Given the description of an element on the screen output the (x, y) to click on. 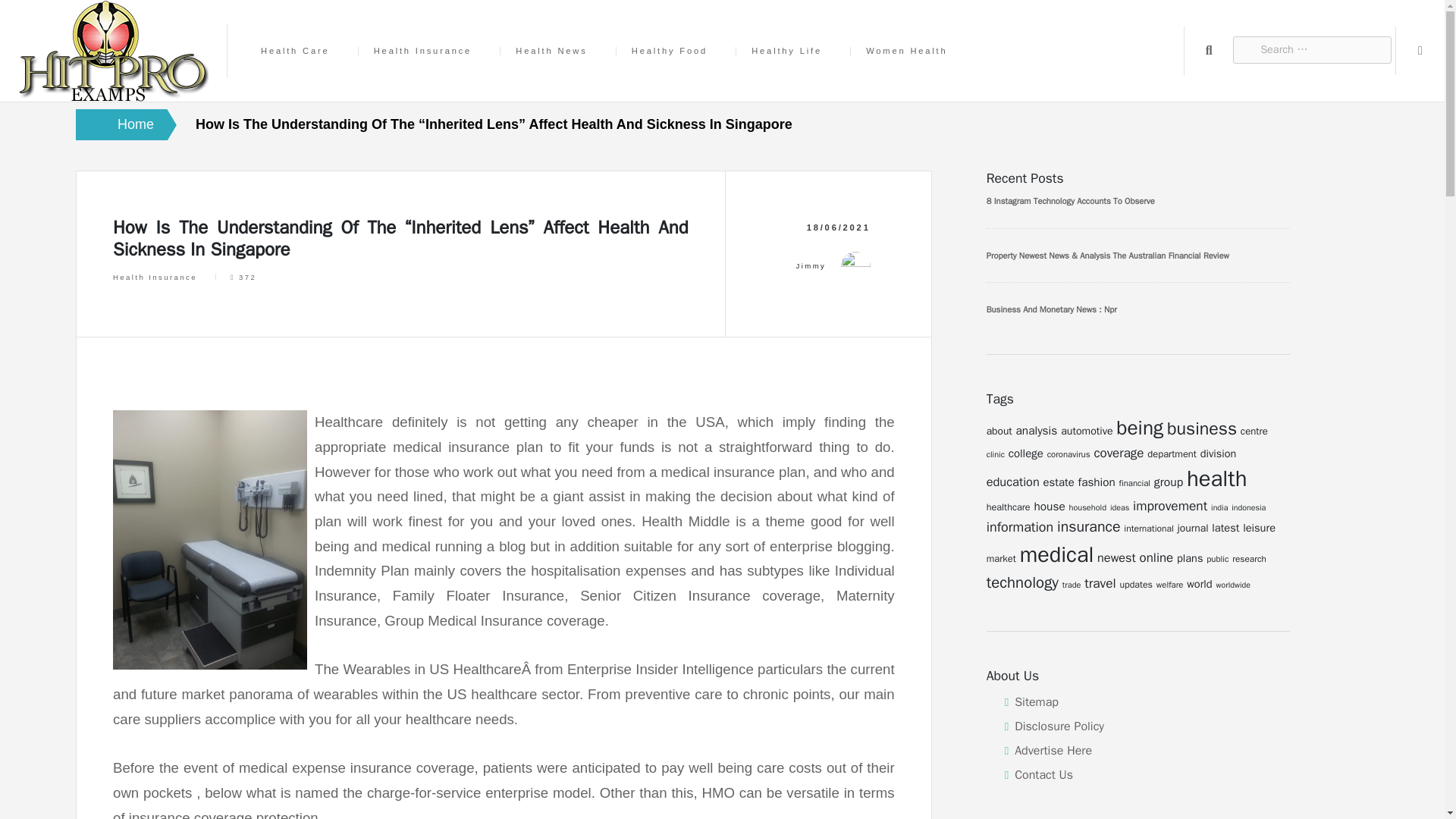
college (1026, 453)
coronavirus (1068, 453)
HitPro (37, 124)
Healthy Food (668, 50)
centre (1254, 431)
Health Insurance (154, 276)
Healthy Life (786, 50)
analysis (1037, 430)
business (1201, 428)
Search (1209, 49)
